Given the description of an element on the screen output the (x, y) to click on. 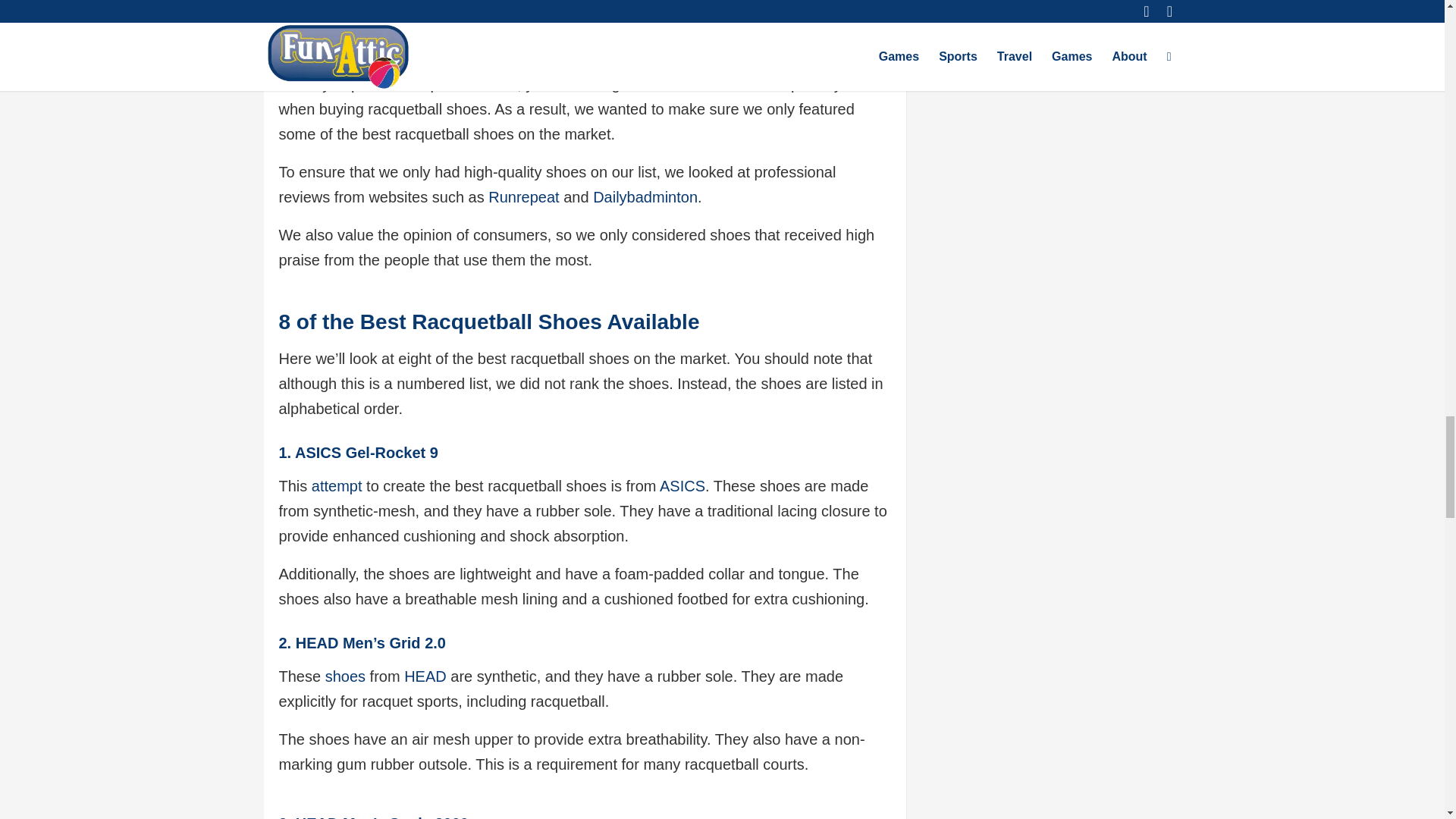
Runrepeat (523, 197)
HEAD (425, 676)
attempt (336, 485)
ASICS (681, 485)
shoes (344, 676)
Dailybadminton (644, 197)
